Given the description of an element on the screen output the (x, y) to click on. 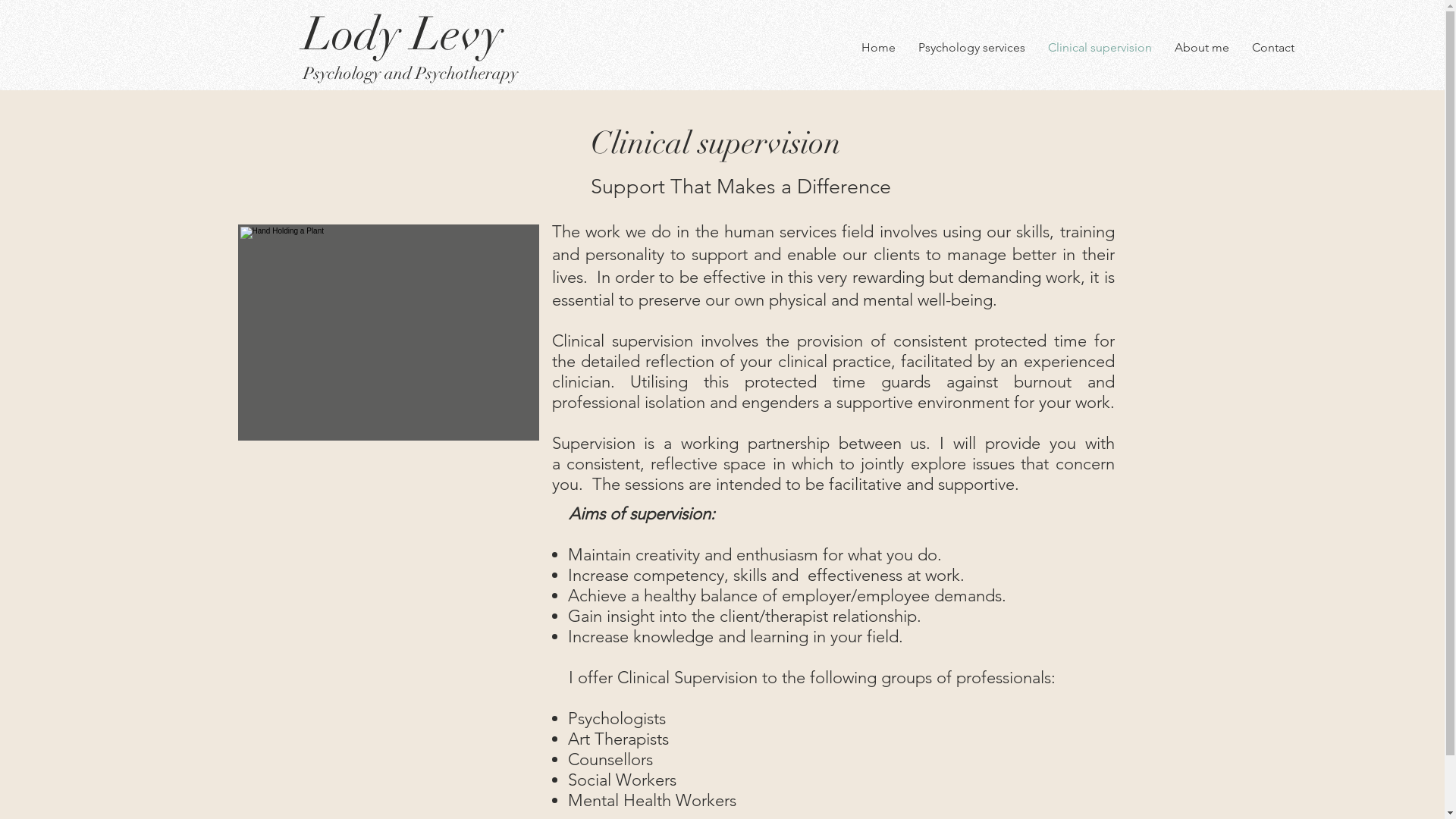
About me Element type: text (1201, 46)
Contact Element type: text (1272, 46)
Support_blocks.jpg Element type: hover (388, 332)
Psychology services Element type: text (971, 46)
Clinical supervision Element type: text (1099, 46)
Home Element type: text (878, 46)
Clinical supervision Element type: text (714, 142)
